Given the description of an element on the screen output the (x, y) to click on. 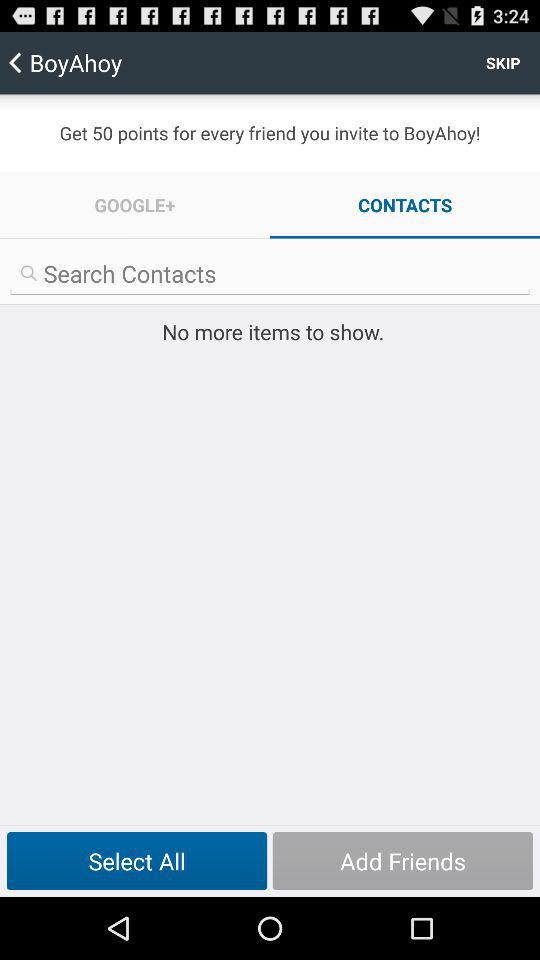
open button to the right of select all item (402, 861)
